Given the description of an element on the screen output the (x, y) to click on. 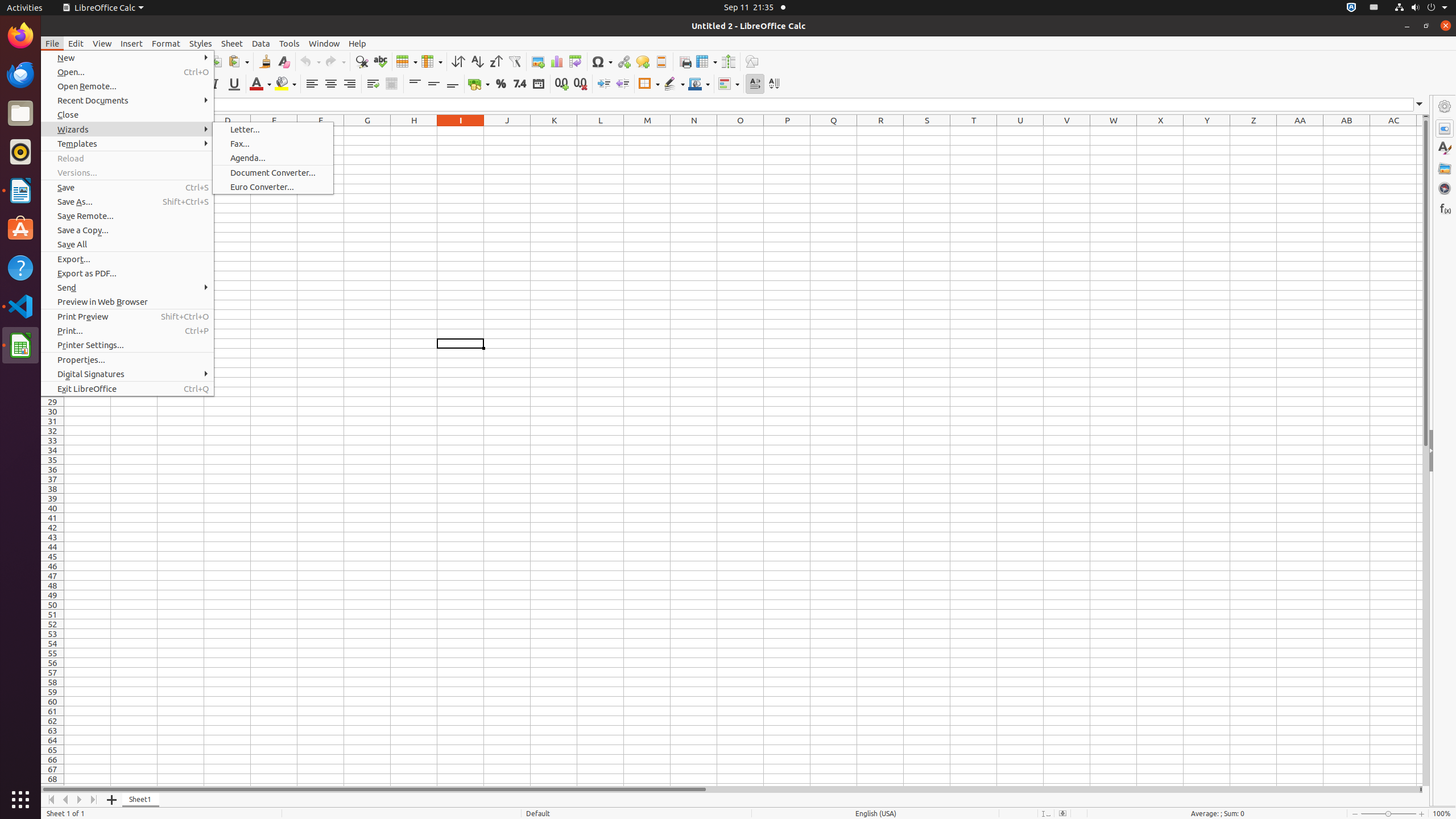
Tools Element type: menu (289, 43)
Align Top Element type: push-button (414, 83)
AB1 Element type: table-cell (1346, 130)
Undo Element type: push-button (309, 61)
Align Left Element type: push-button (311, 83)
